Given the description of an element on the screen output the (x, y) to click on. 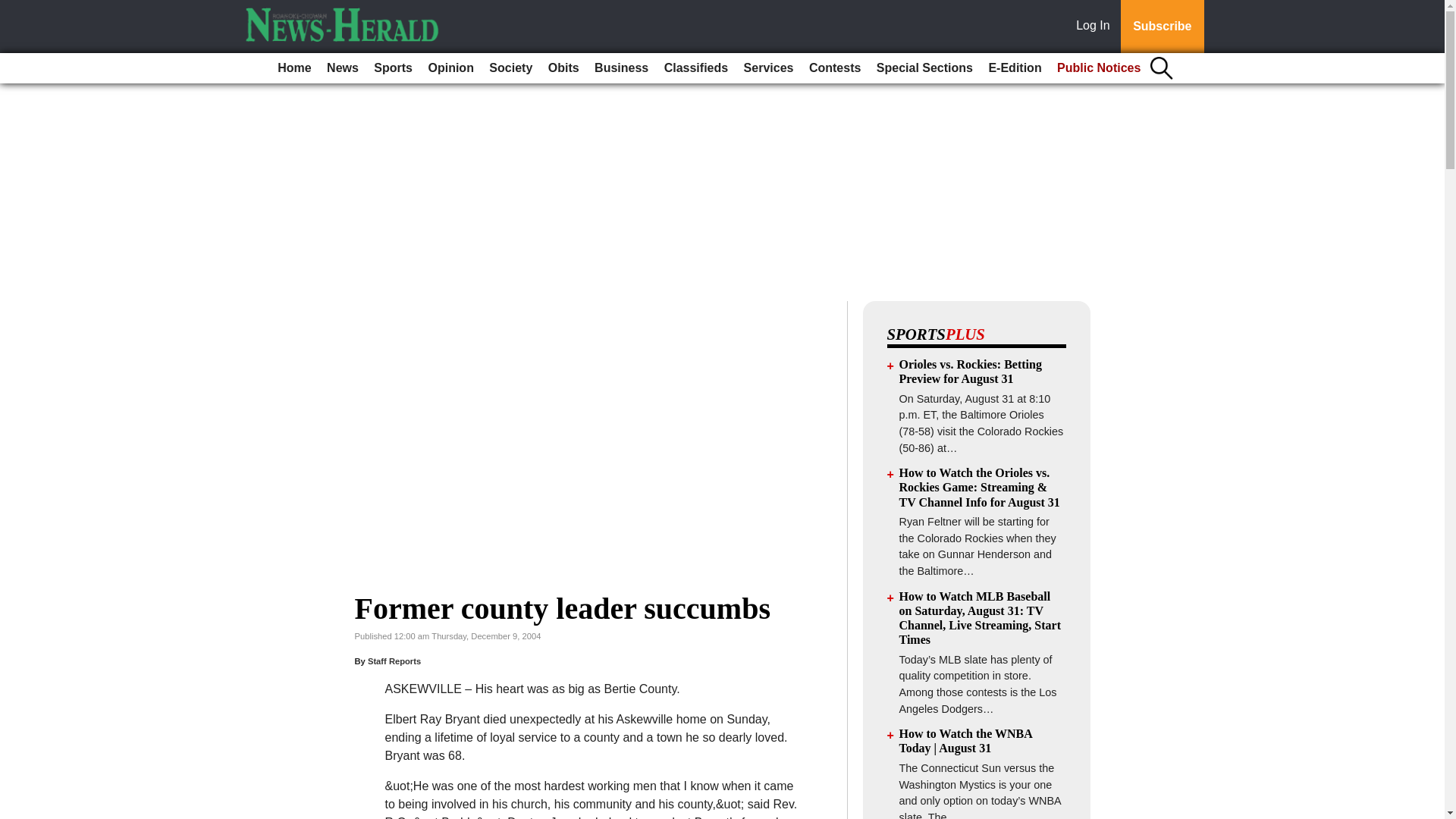
Services (768, 68)
Classifieds (695, 68)
Special Sections (924, 68)
Staff Reports (394, 660)
Obits (563, 68)
Orioles vs. Rockies: Betting Preview for August 31 (970, 370)
Sports (393, 68)
Subscribe (1162, 26)
Business (620, 68)
Opinion (450, 68)
